Given the description of an element on the screen output the (x, y) to click on. 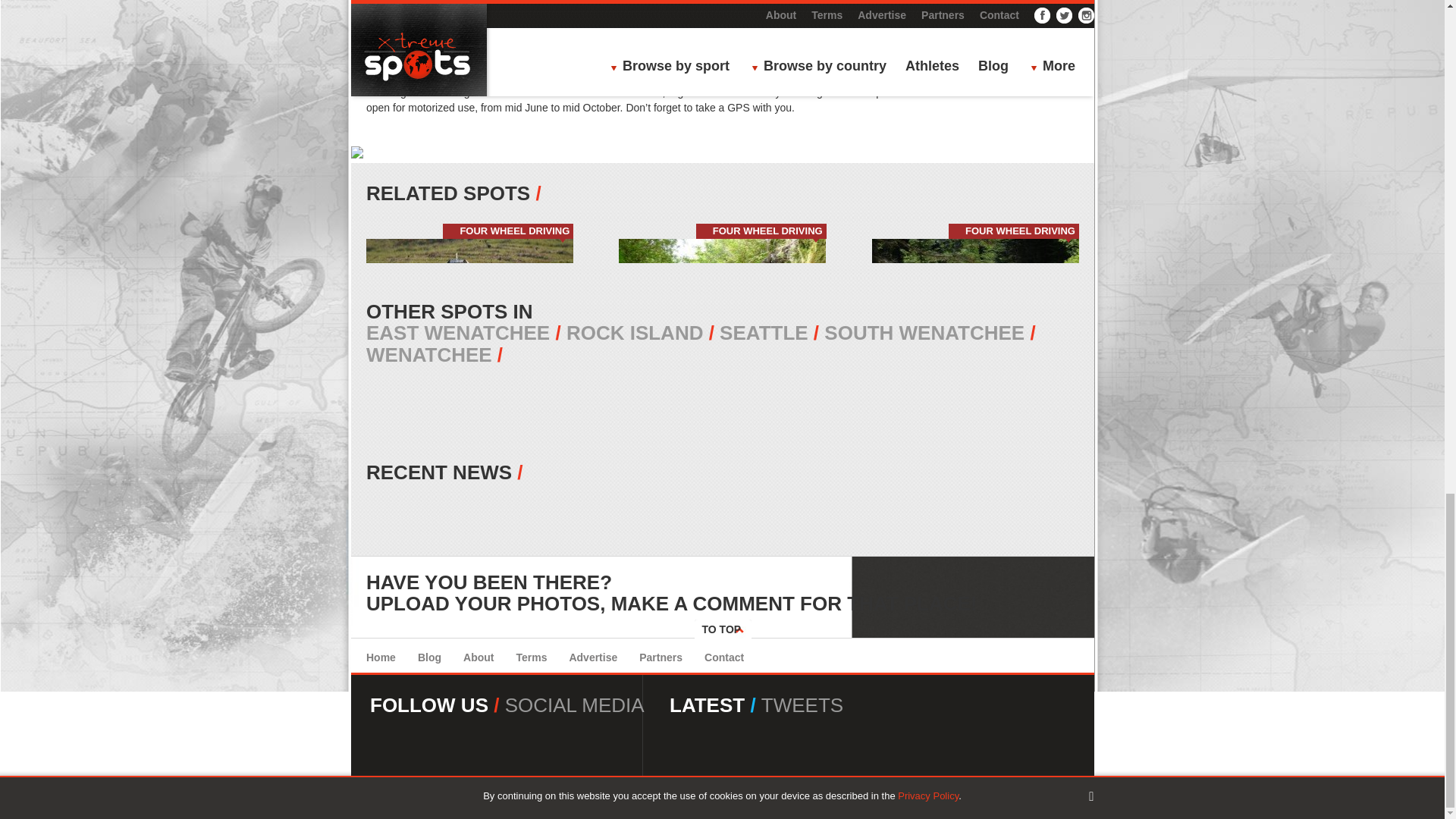
Photo source (396, 48)
4wd Crystal Ridge Trail (722, 20)
FOUR WHEEL DRIVING (514, 230)
